Given the description of an element on the screen output the (x, y) to click on. 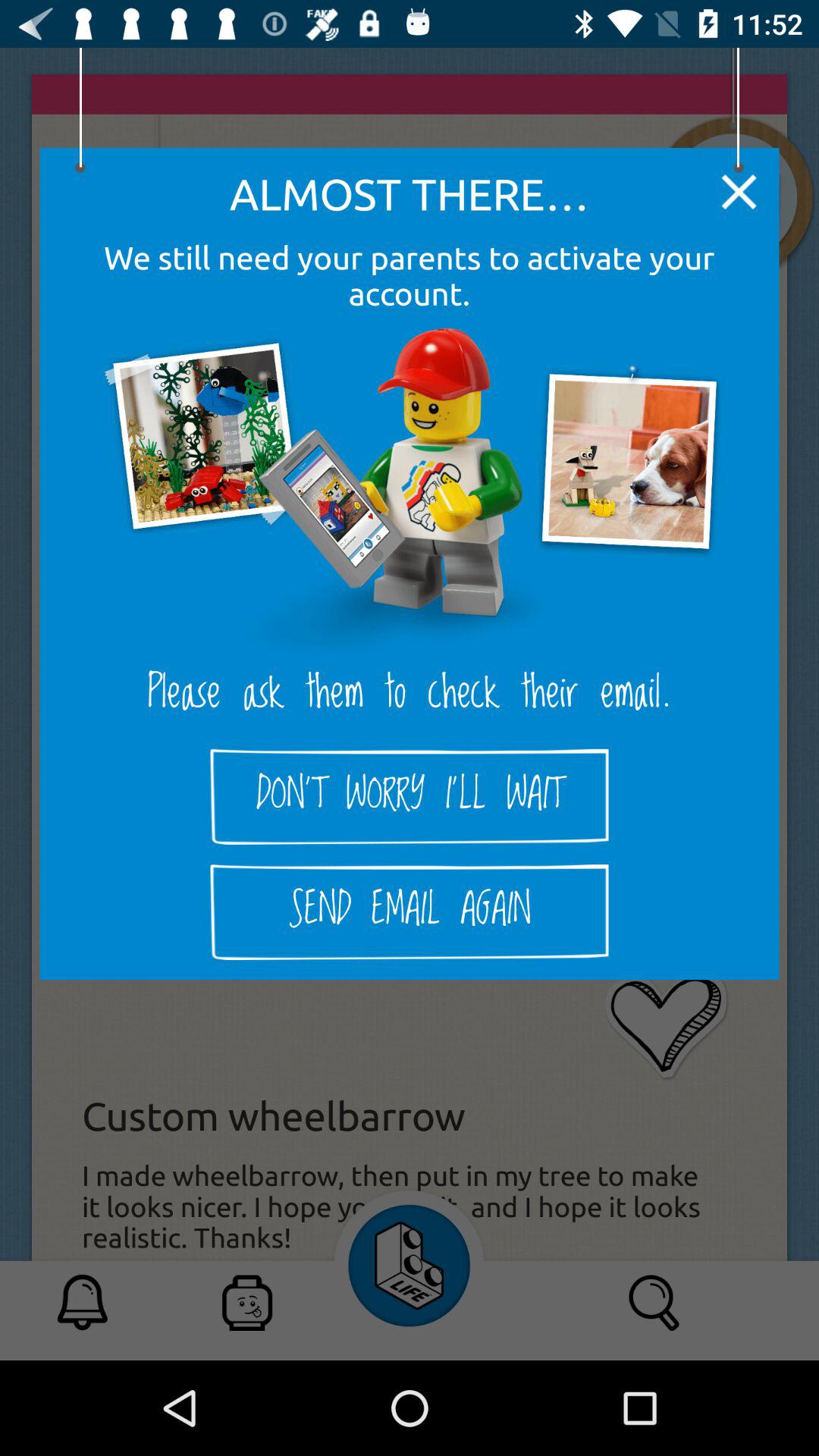
launch don t worry icon (409, 796)
